Given the description of an element on the screen output the (x, y) to click on. 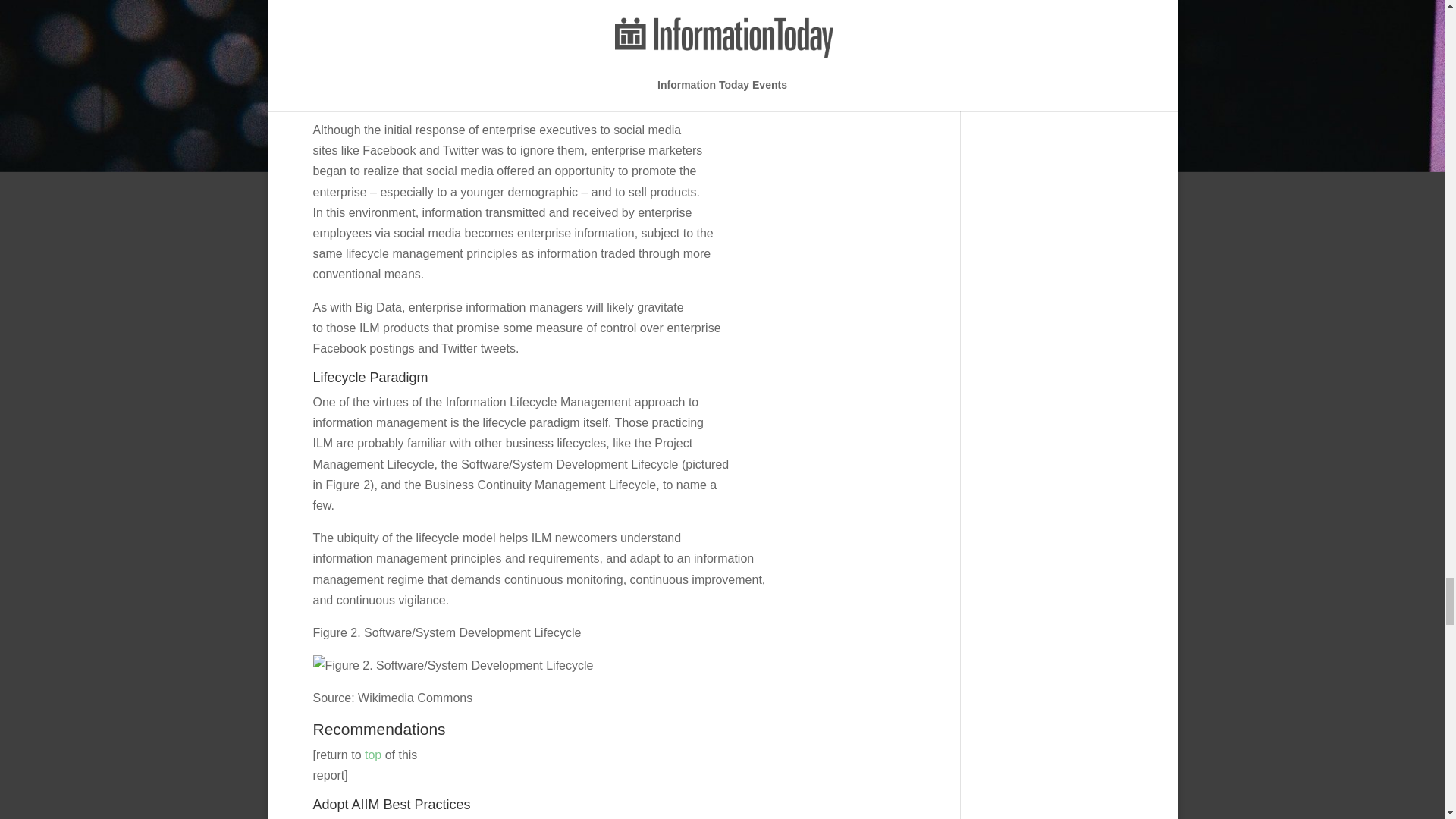
SDLC (452, 665)
Return to top of page (373, 753)
top (373, 753)
